Given the description of an element on the screen output the (x, y) to click on. 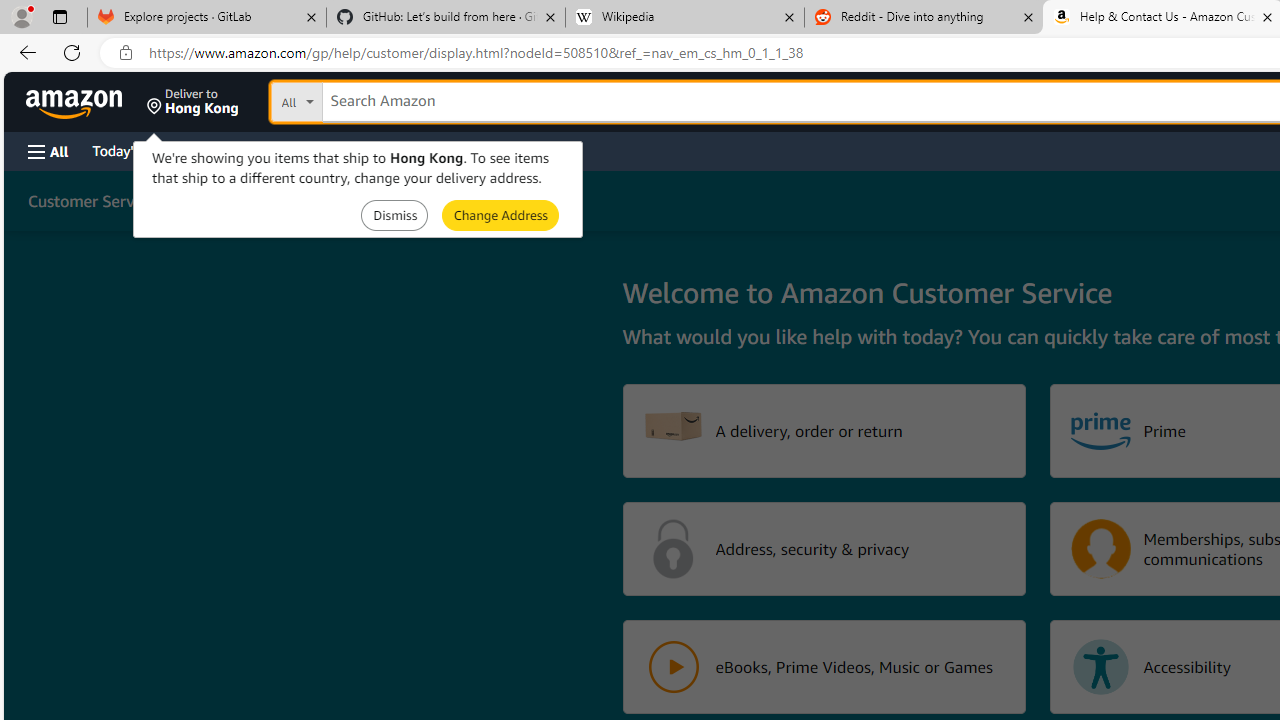
Customer Service (91, 200)
eBooks, Prime Videos, Music or Games (824, 666)
Digital Services and Device Support (402, 200)
Sell (509, 150)
Skip to main content (86, 100)
Amazon (76, 101)
Address, security & privacy (824, 548)
Reddit - Dive into anything (924, 17)
